Given the description of an element on the screen output the (x, y) to click on. 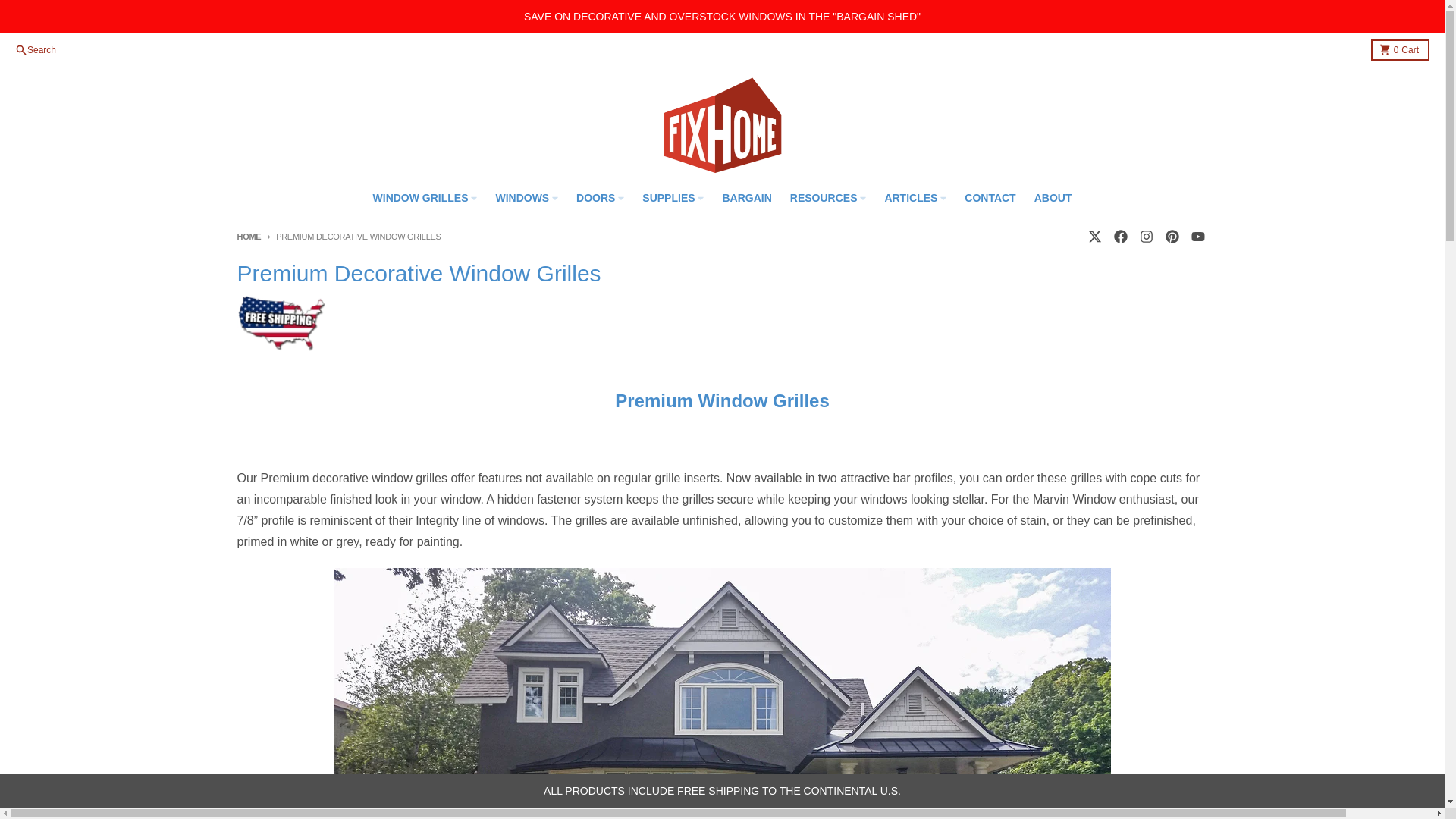
Facebook - FixHome (1119, 235)
Pinterest - FixHome (1170, 235)
Instagram - FixHome (1145, 235)
YouTube - FixHome (1400, 49)
Search (1197, 235)
Back to the homepage (35, 49)
Twitter - FixHome (247, 235)
